Given the description of an element on the screen output the (x, y) to click on. 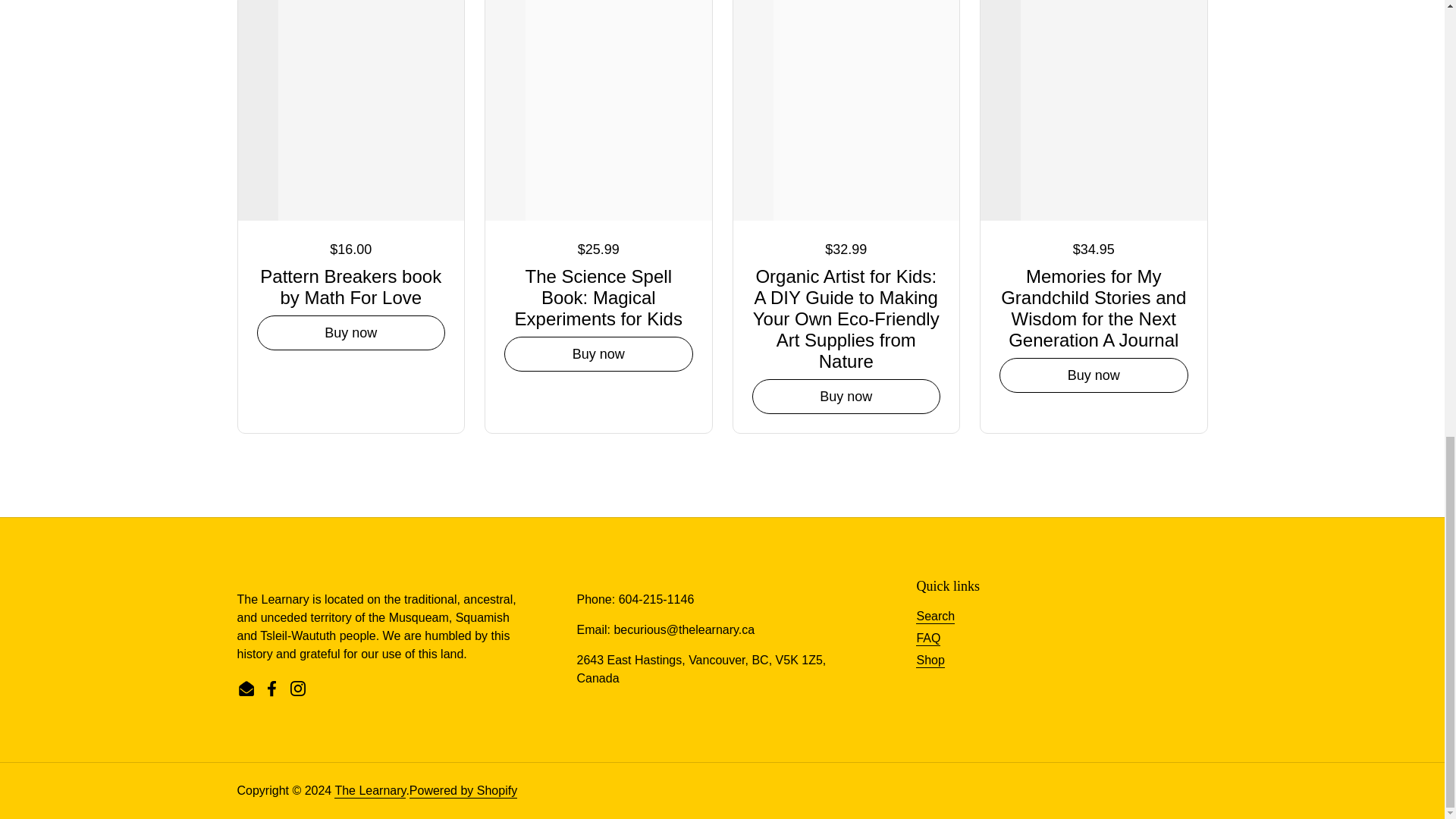
The Science Spell Book: Magical Experiments for Kids (598, 298)
Pattern Breakers book by Math For Love (350, 287)
